Given the description of an element on the screen output the (x, y) to click on. 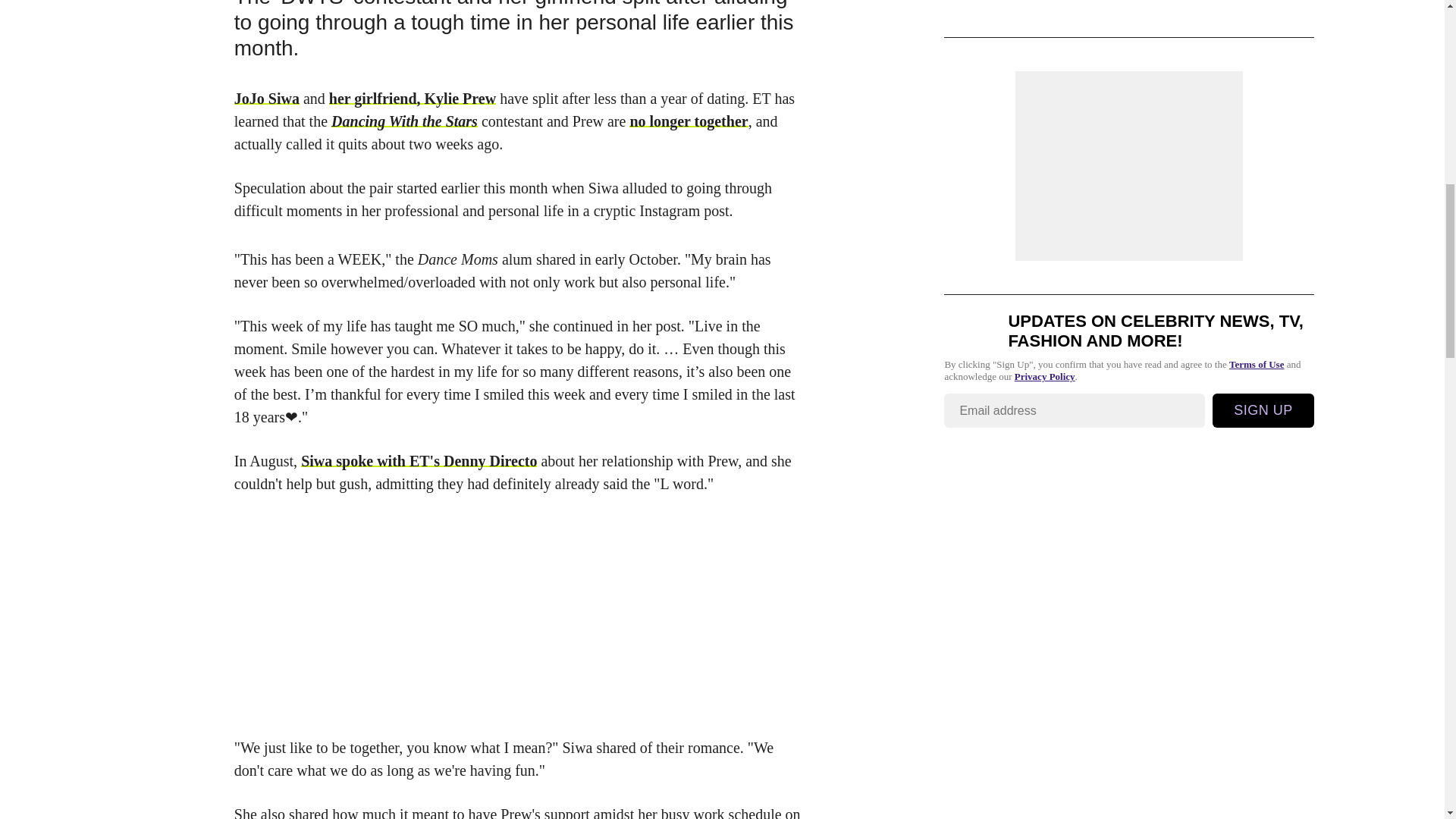
Siwa spoke with ET's Denny Directo (419, 460)
JoJo Siwa (266, 98)
Dancing With the Stars (404, 121)
no longer together (688, 121)
her girlfriend, Kylie Prew (412, 98)
